Given the description of an element on the screen output the (x, y) to click on. 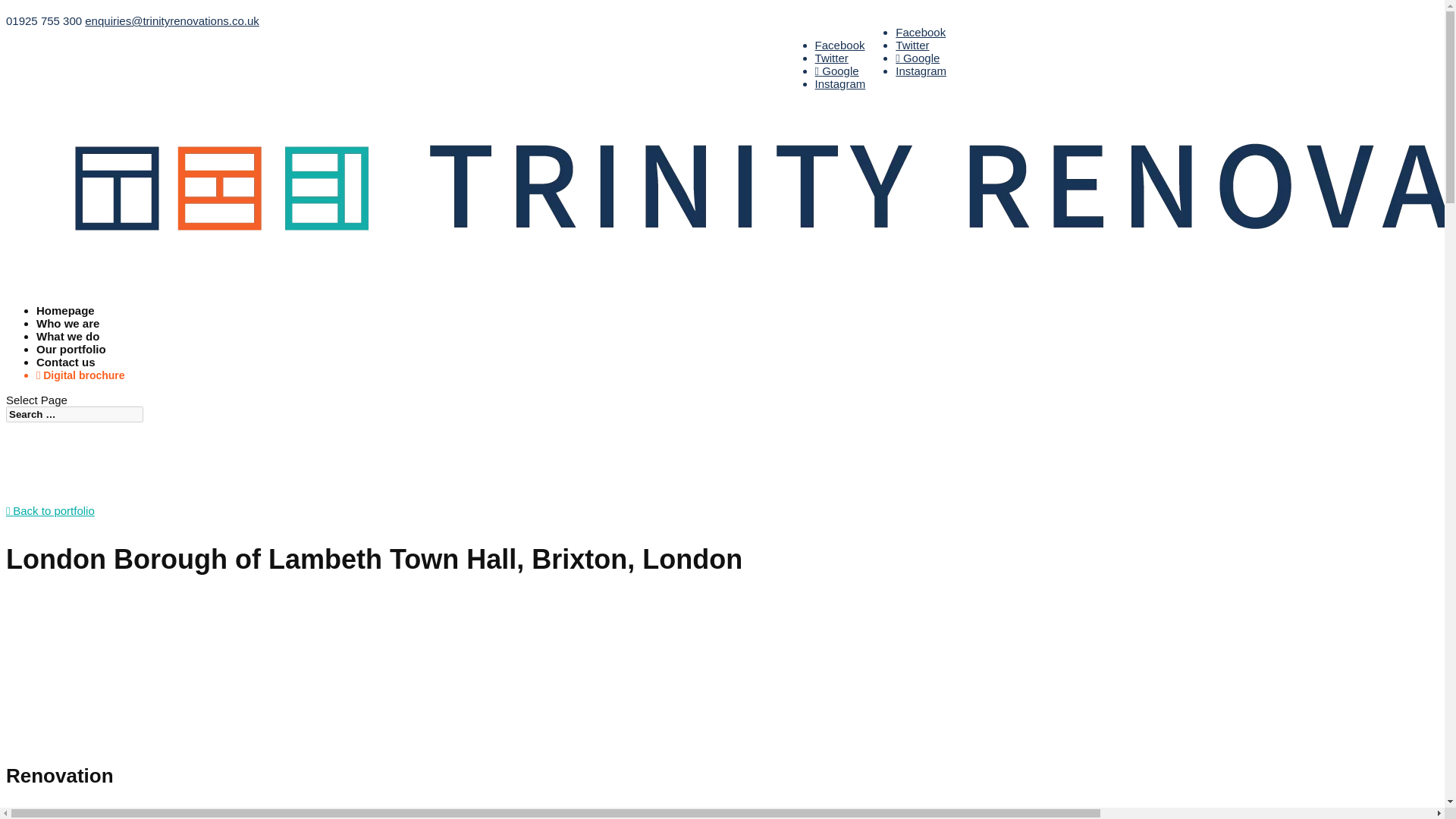
Homepage (65, 320)
Google (837, 70)
Search for: (73, 414)
Facebook (839, 44)
Contact us (66, 372)
Instagram (920, 70)
Google (917, 57)
Twitter (831, 57)
Instagram (840, 83)
Twitter (911, 44)
